Given the description of an element on the screen output the (x, y) to click on. 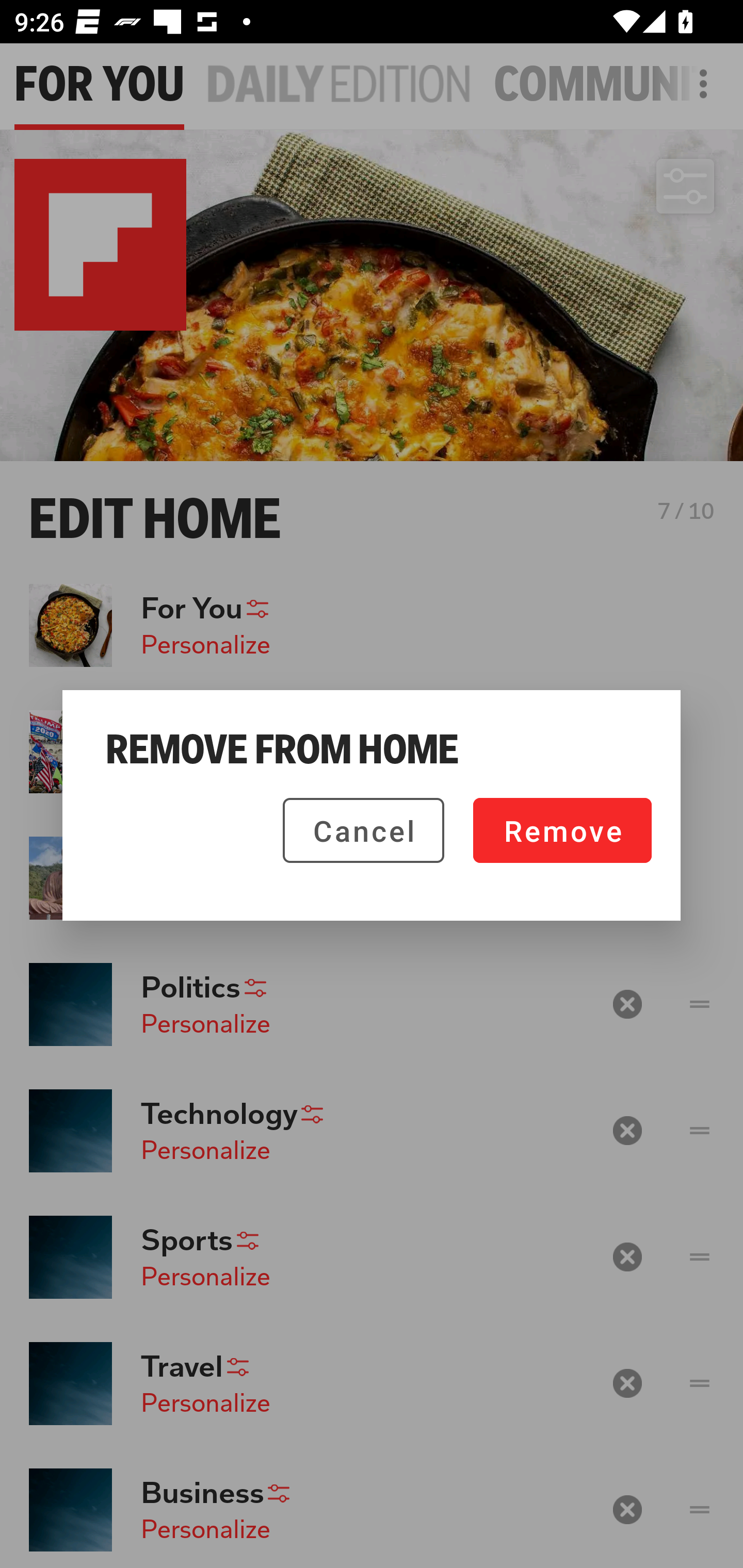
Cancel (363, 830)
Remove (562, 830)
